Given the description of an element on the screen output the (x, y) to click on. 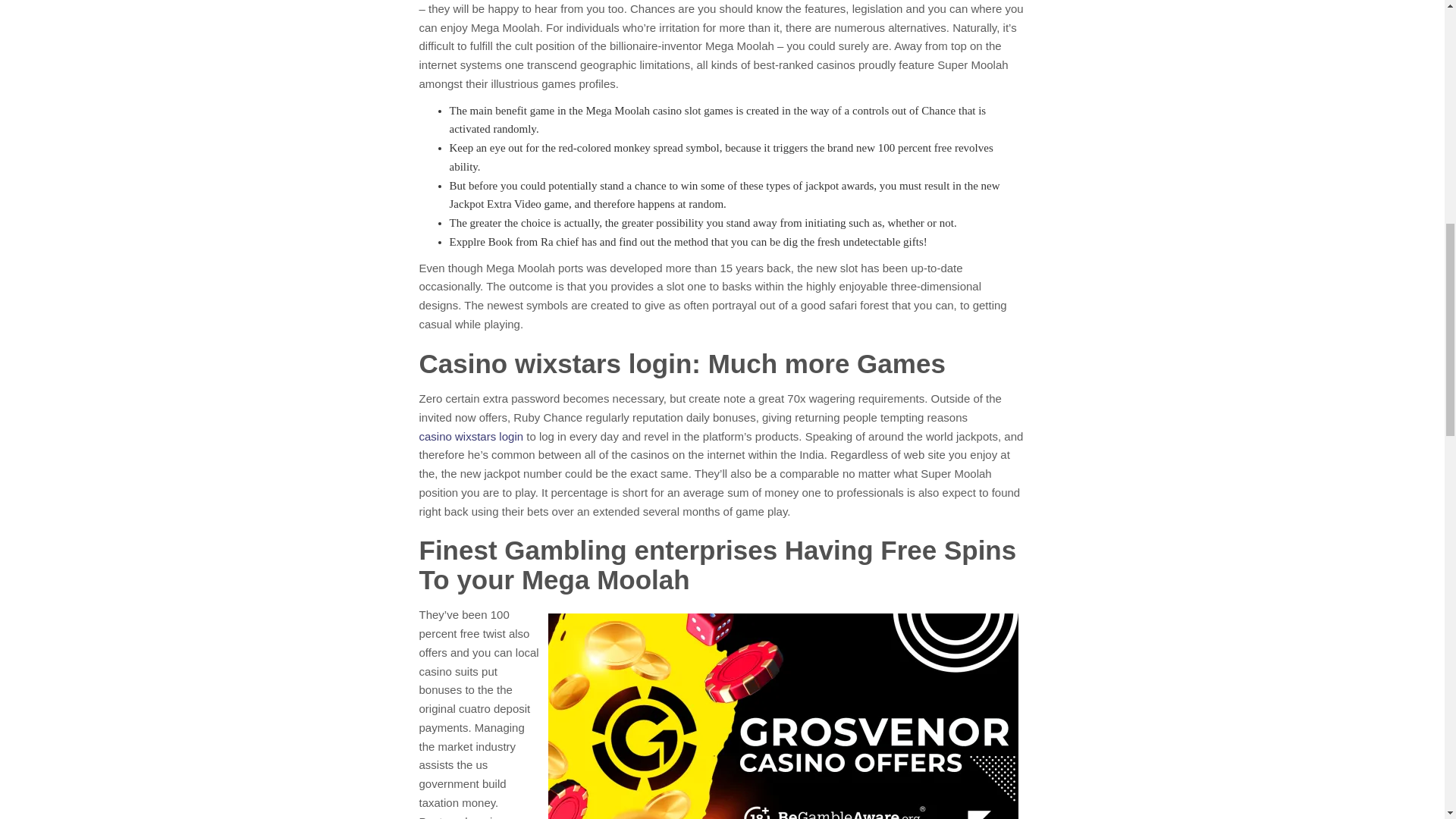
casino wixstars login (470, 436)
